Given the description of an element on the screen output the (x, y) to click on. 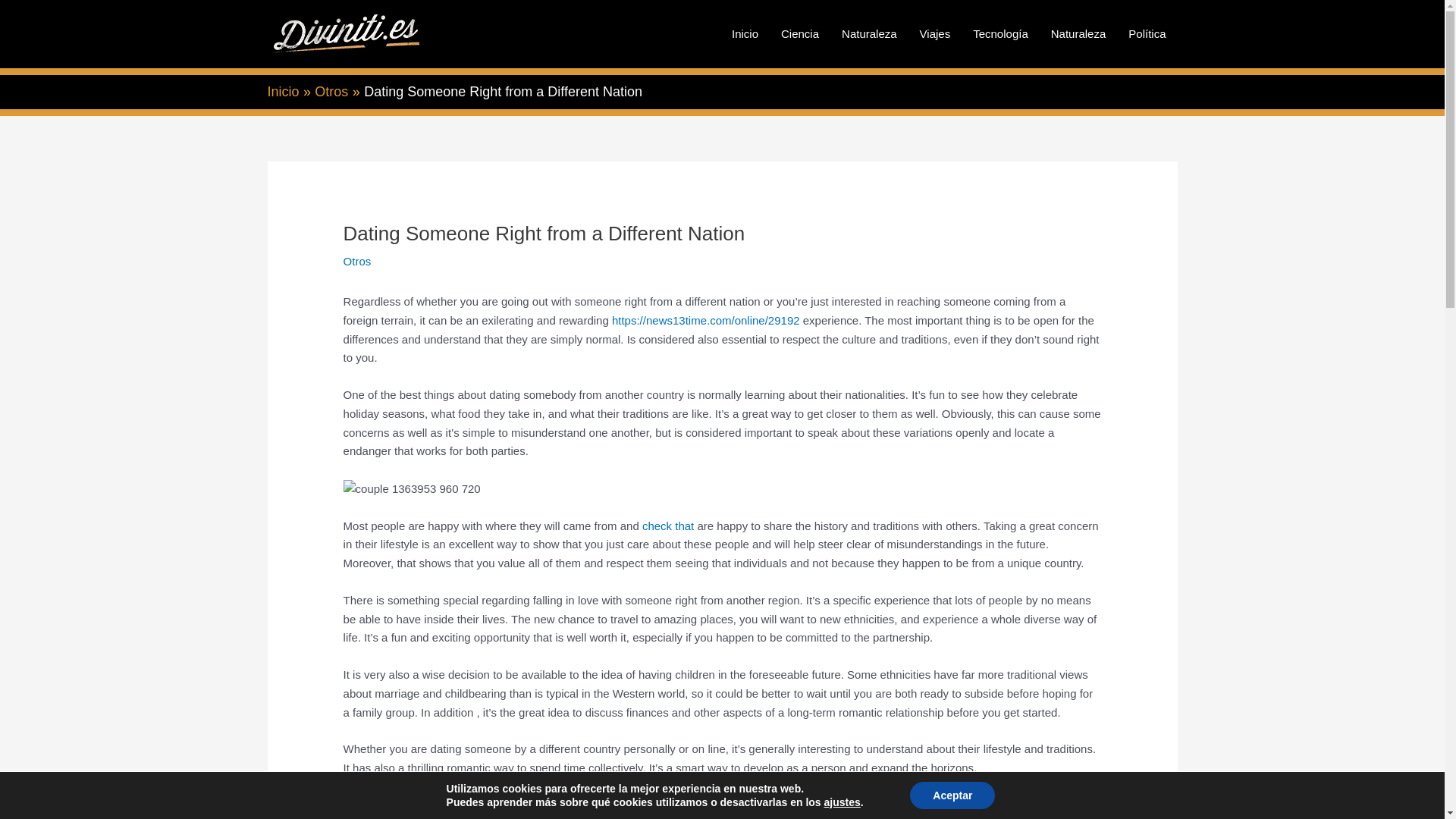
Dating Someone Right from a Different Nation 3 (411, 488)
Naturaleza (1078, 33)
Inicio (745, 33)
Otros (330, 91)
Viajes (935, 33)
Ciencia (799, 33)
check that (668, 525)
Inicio (282, 91)
Naturaleza (868, 33)
Otros (357, 260)
